Given the description of an element on the screen output the (x, y) to click on. 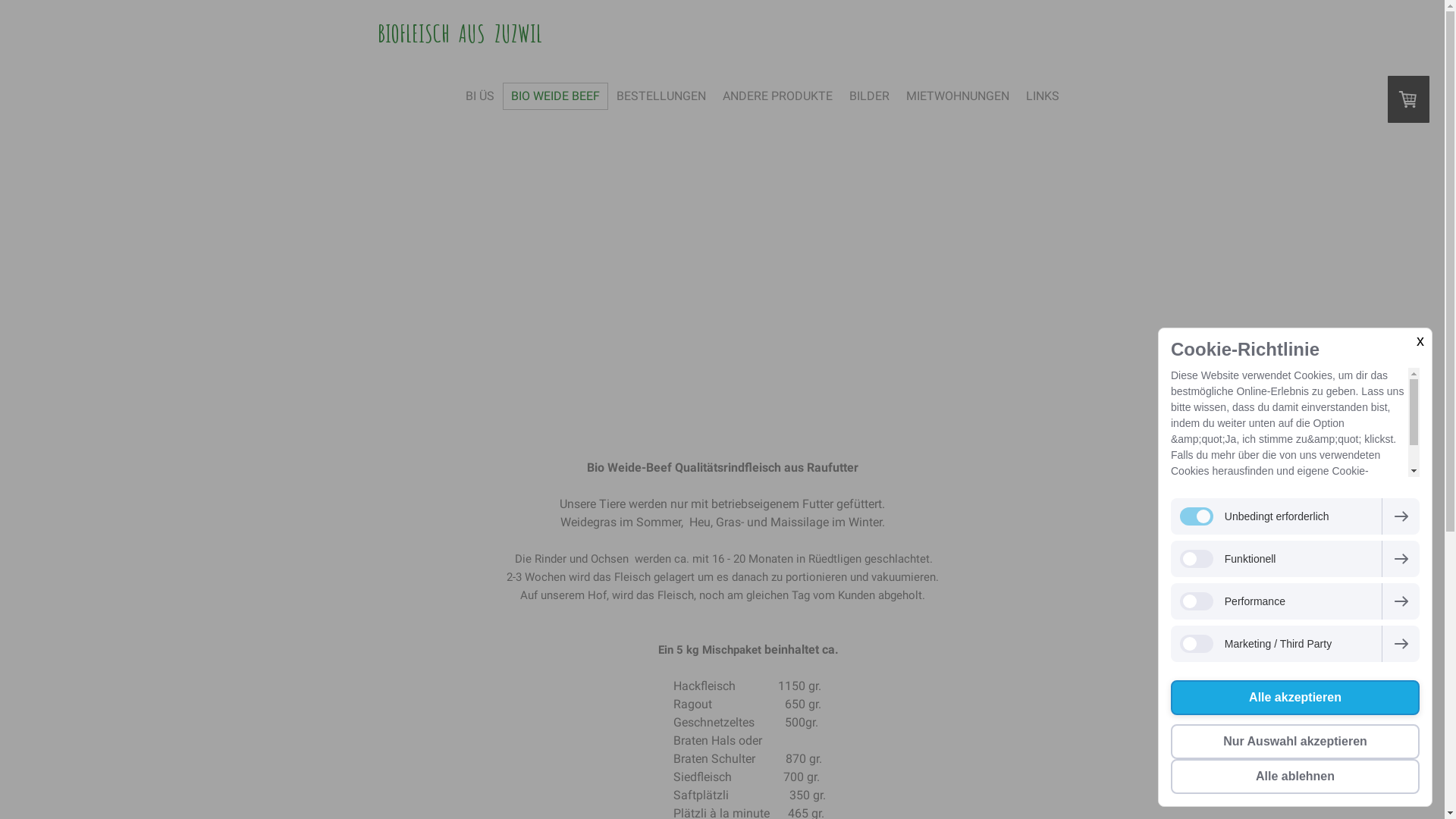
LINKS Element type: text (1042, 95)
BIOFLEISCH  AUS  ZUZWIL Element type: text (468, 33)
BIO WEIDE BEEF Element type: text (554, 95)
ANDERE PRODUKTE Element type: text (777, 95)
BILDER Element type: text (868, 95)
Alle ablehnen Element type: text (1294, 776)
Alle akzeptieren Element type: text (1294, 697)
Nur Auswahl akzeptieren Element type: text (1294, 741)
BESTELLUNGEN Element type: text (661, 95)
MIETWOHNUNGEN Element type: text (957, 95)
